Given the description of an element on the screen output the (x, y) to click on. 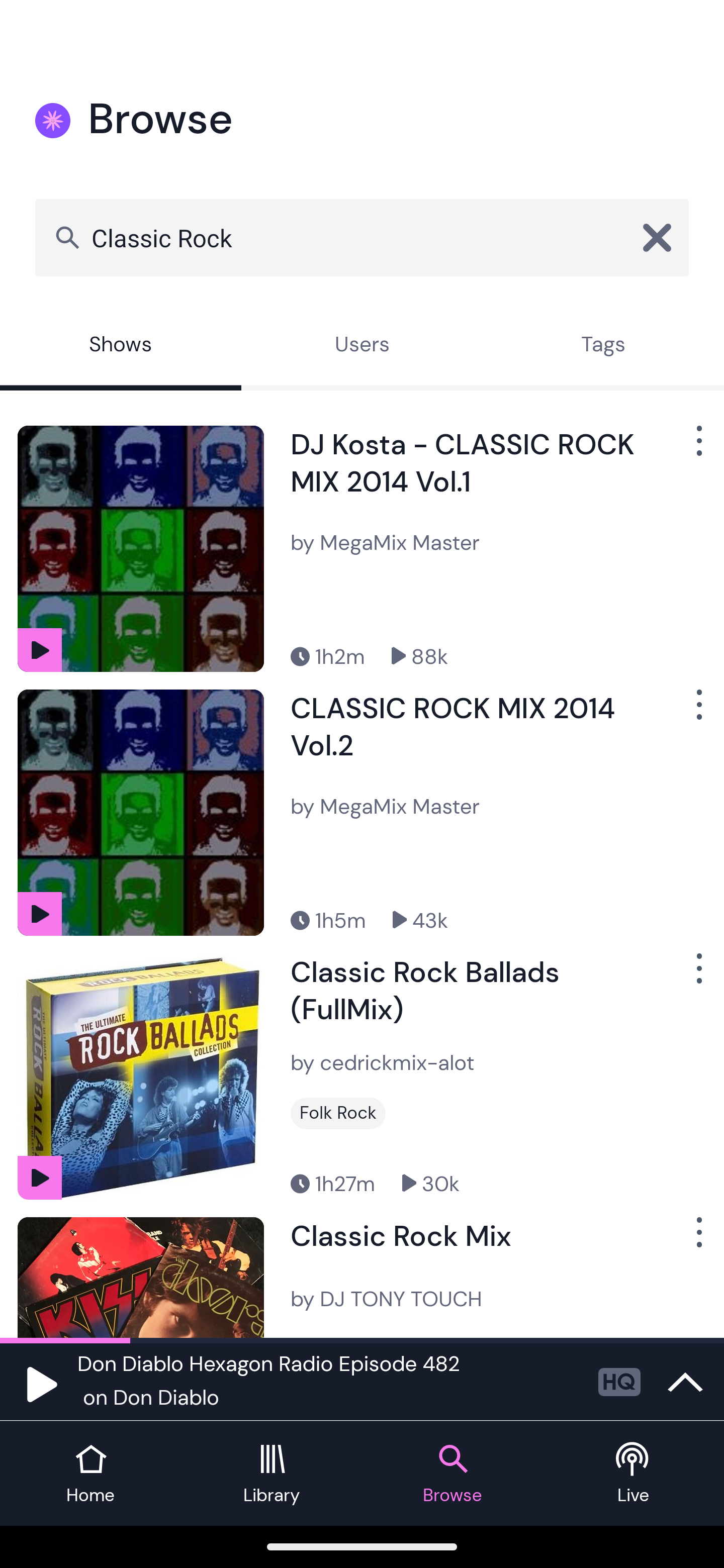
Classic Rock (361, 237)
Shows (120, 346)
Users (361, 346)
Tags (603, 346)
Show Options Menu Button (697, 447)
Show Options Menu Button (697, 712)
Show Options Menu Button (697, 975)
Folk Rock (337, 1112)
Show Options Menu Button (697, 1239)
Home tab Home (90, 1473)
Library tab Library (271, 1473)
Browse tab Browse (452, 1473)
Live tab Live (633, 1473)
